Given the description of an element on the screen output the (x, y) to click on. 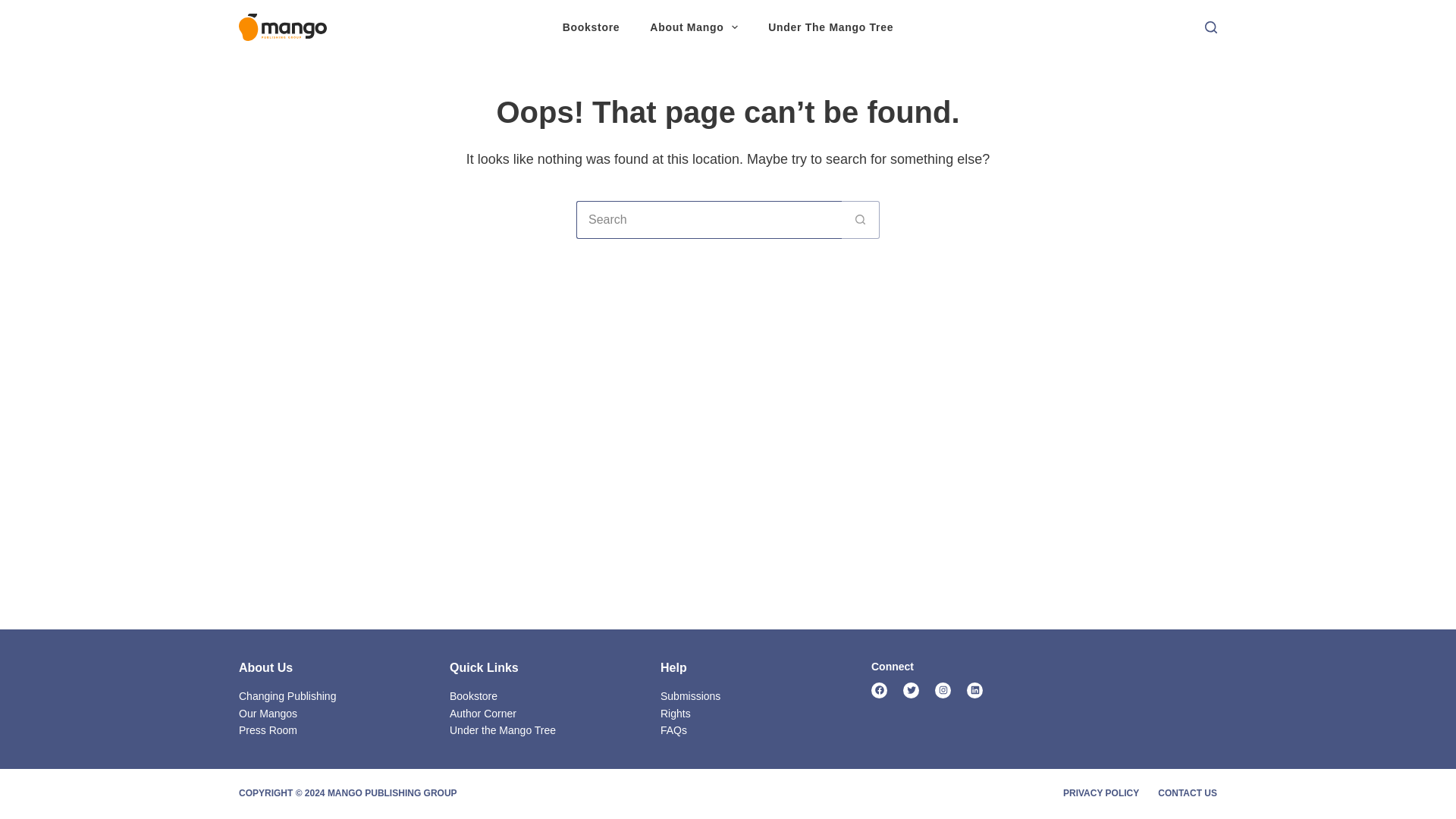
Bookstore (590, 27)
Facebook (878, 690)
Under the Mango Tree (502, 729)
Our Mangos (267, 713)
Author Corner (482, 713)
Under The Mango Tree (830, 27)
Skip to content (15, 7)
Bookstore (473, 695)
About Mango (693, 27)
Changing Publishing (287, 695)
